Given the description of an element on the screen output the (x, y) to click on. 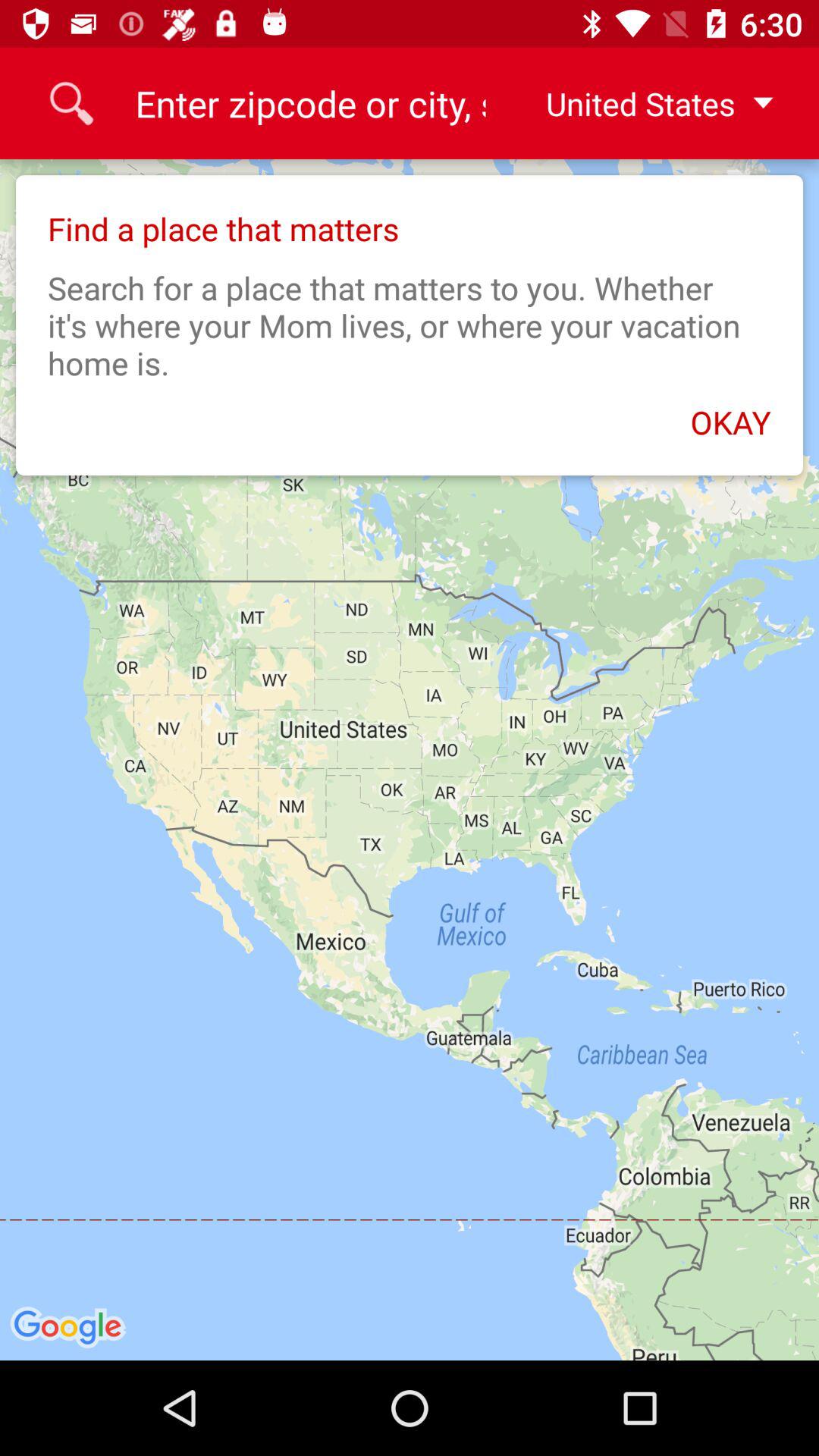
swipe to the 9 icon (309, 103)
